Given the description of an element on the screen output the (x, y) to click on. 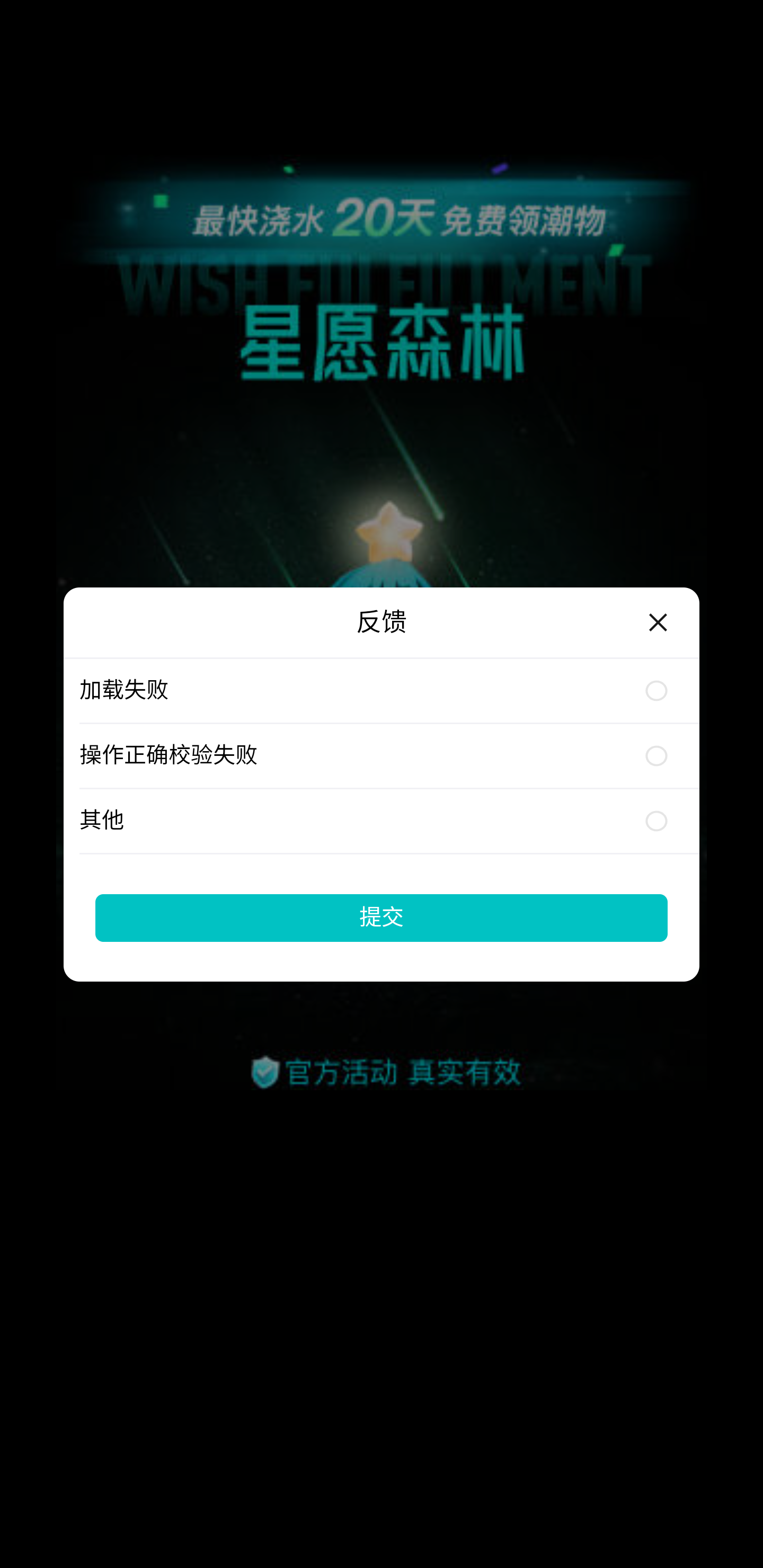
提交 (381, 917)
